Given the description of an element on the screen output the (x, y) to click on. 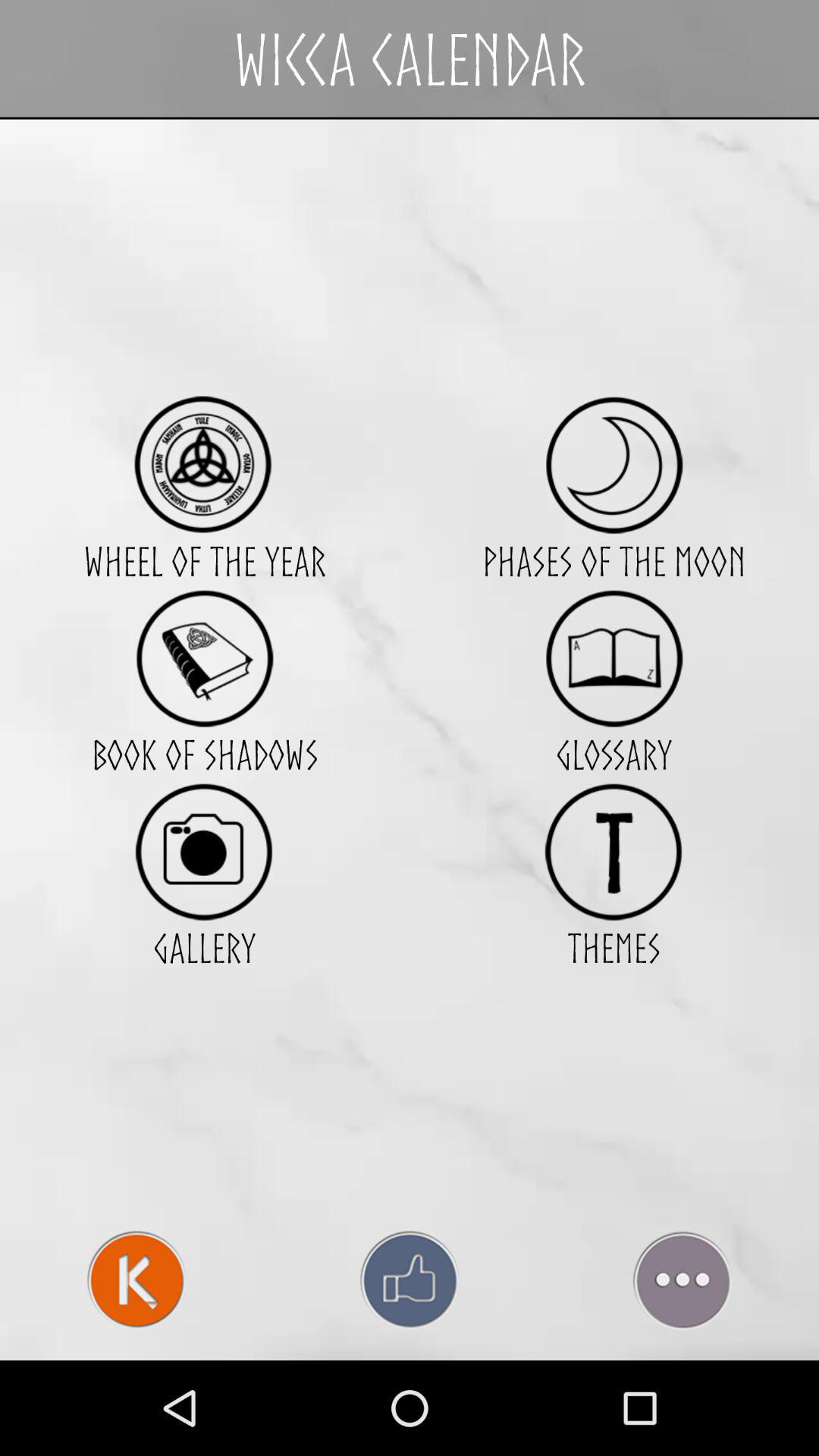
press icon below the wheel of the (204, 658)
